Given the description of an element on the screen output the (x, y) to click on. 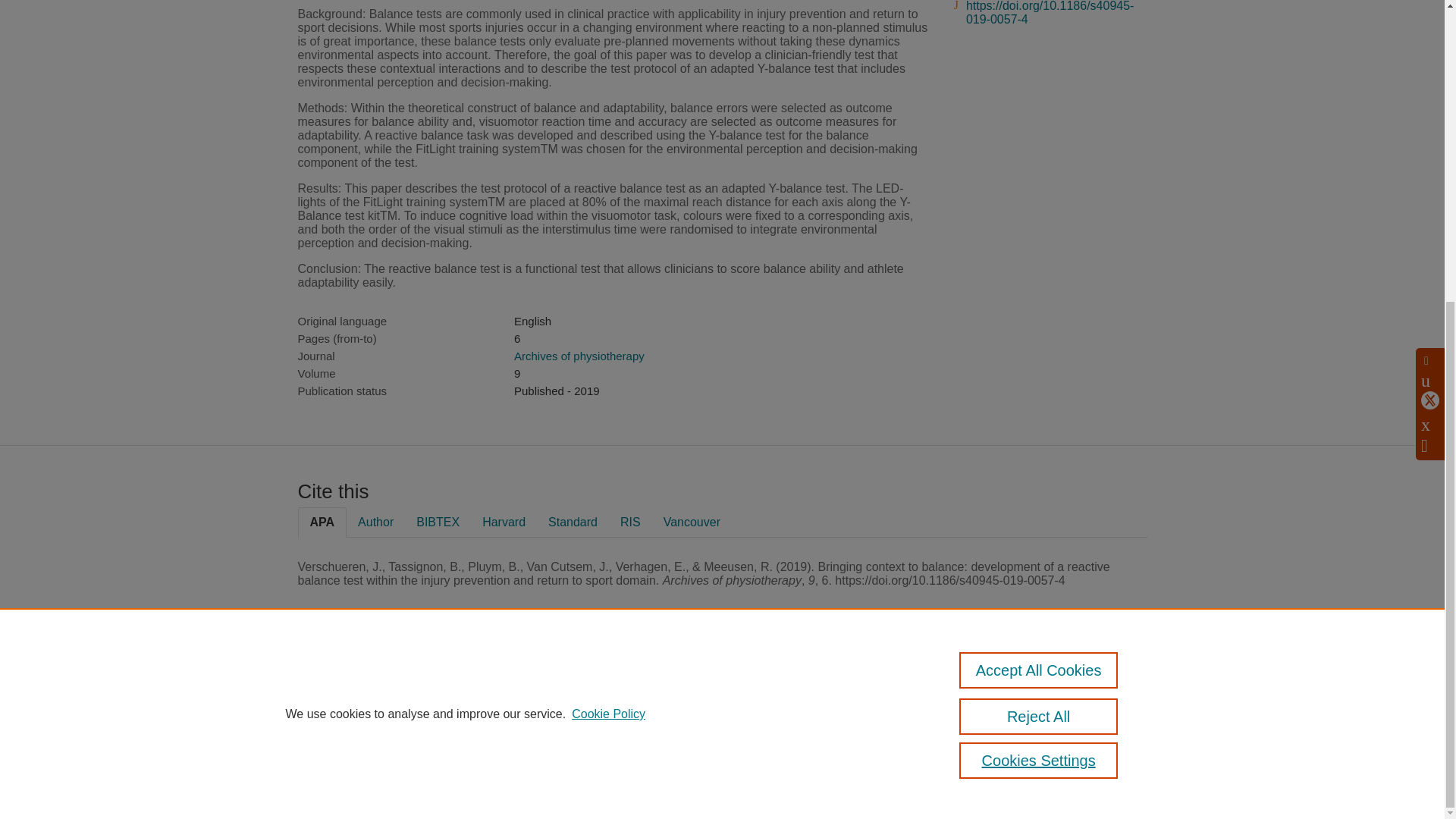
Report vulnerability (1010, 749)
Cookie Policy (608, 243)
Elsevier B.V. (754, 706)
About web accessibility (1019, 728)
Cookies Settings (583, 781)
Contact us (1125, 691)
use of cookies (651, 760)
Archives of physiotherapy (579, 355)
Pure (611, 685)
Amsterdam UMC research portal data protection policy (1012, 697)
Cookies Settings (1038, 289)
Scopus (643, 685)
